Given the description of an element on the screen output the (x, y) to click on. 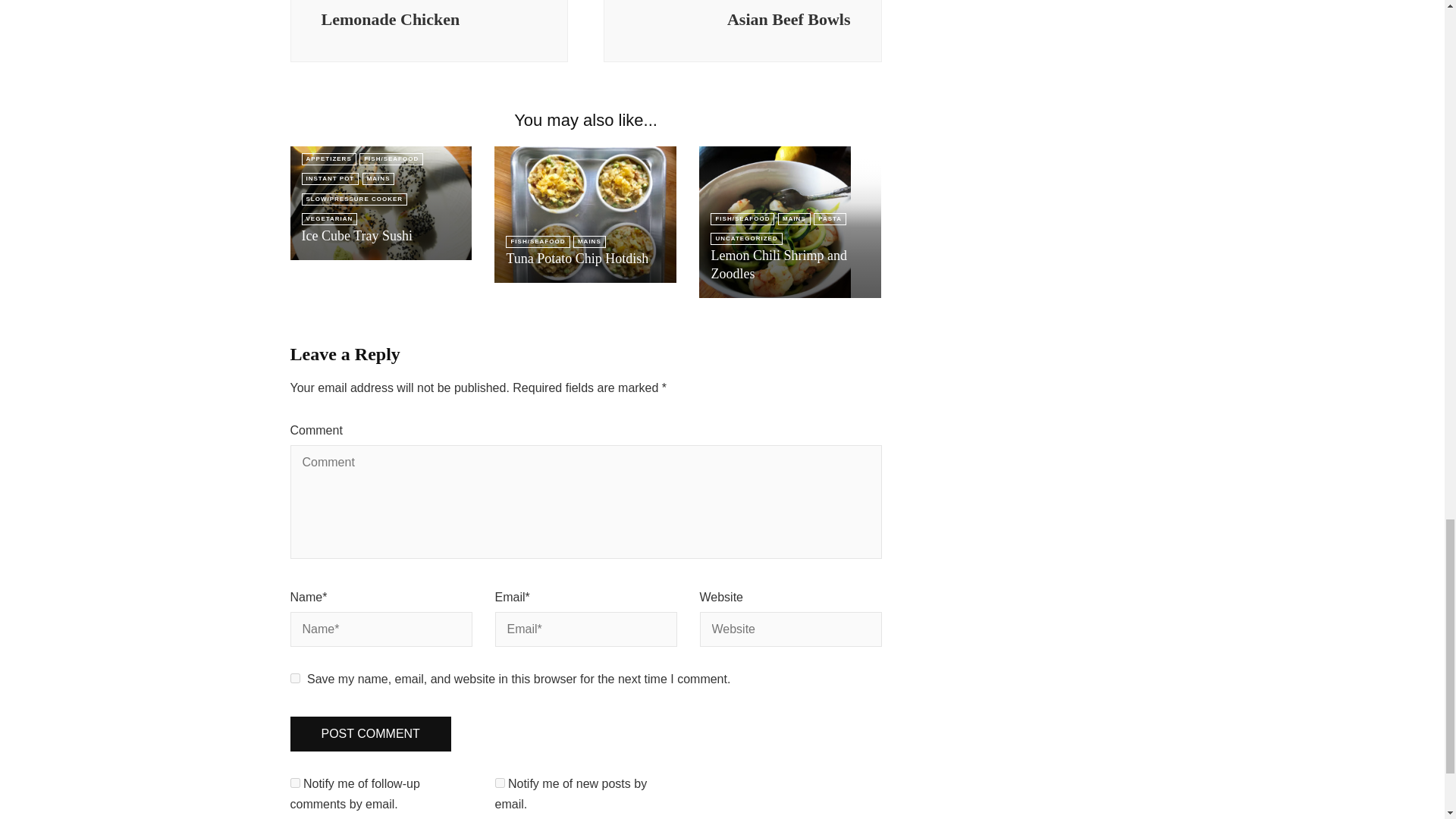
INSTANT POT (330, 178)
yes (294, 678)
Post Comment (369, 734)
subscribe (294, 782)
MAINS (378, 178)
APPETIZERS (328, 159)
subscribe (743, 31)
